Given the description of an element on the screen output the (x, y) to click on. 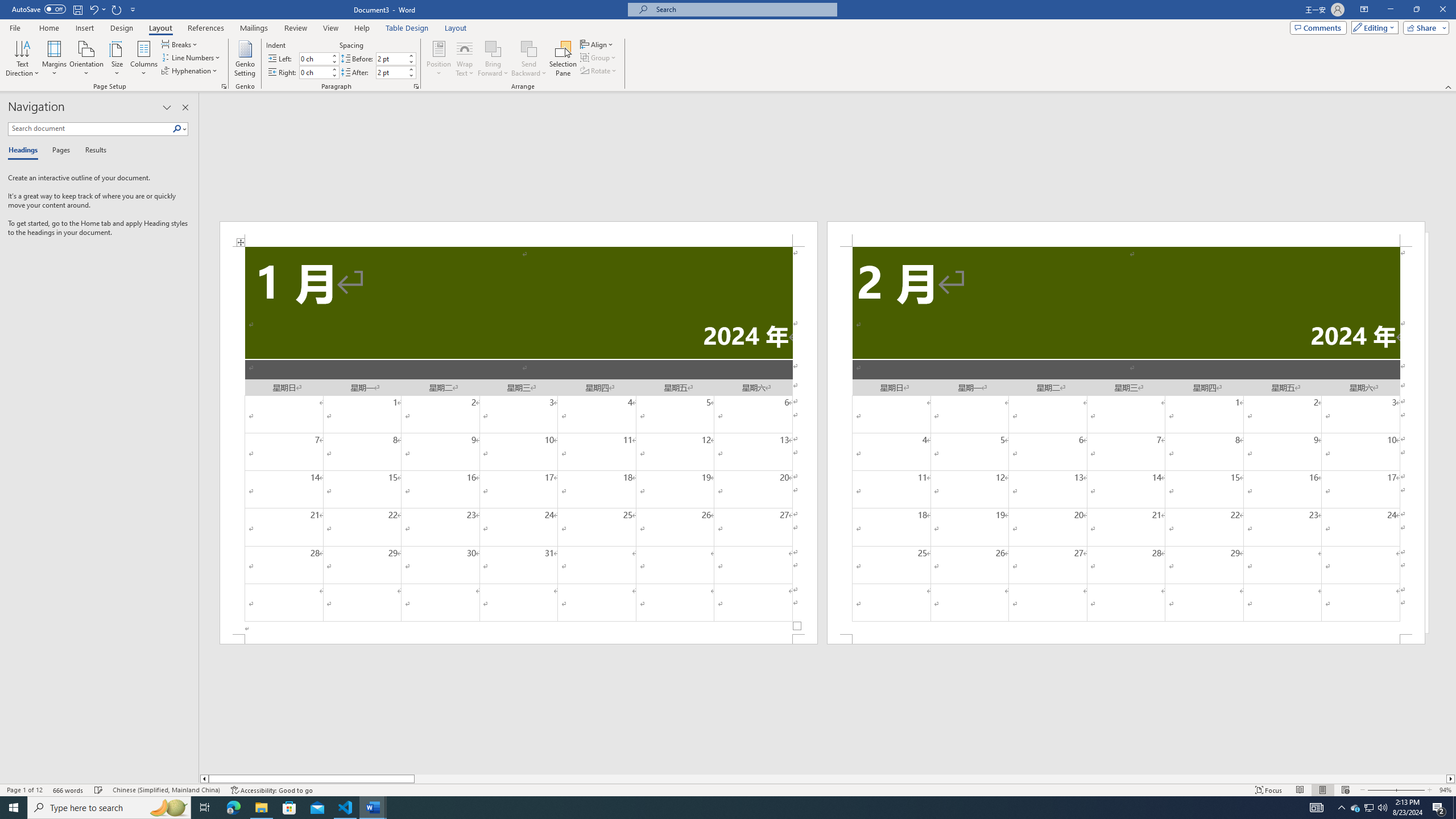
Size (116, 58)
Word Count 666 words (68, 790)
